Given the description of an element on the screen output the (x, y) to click on. 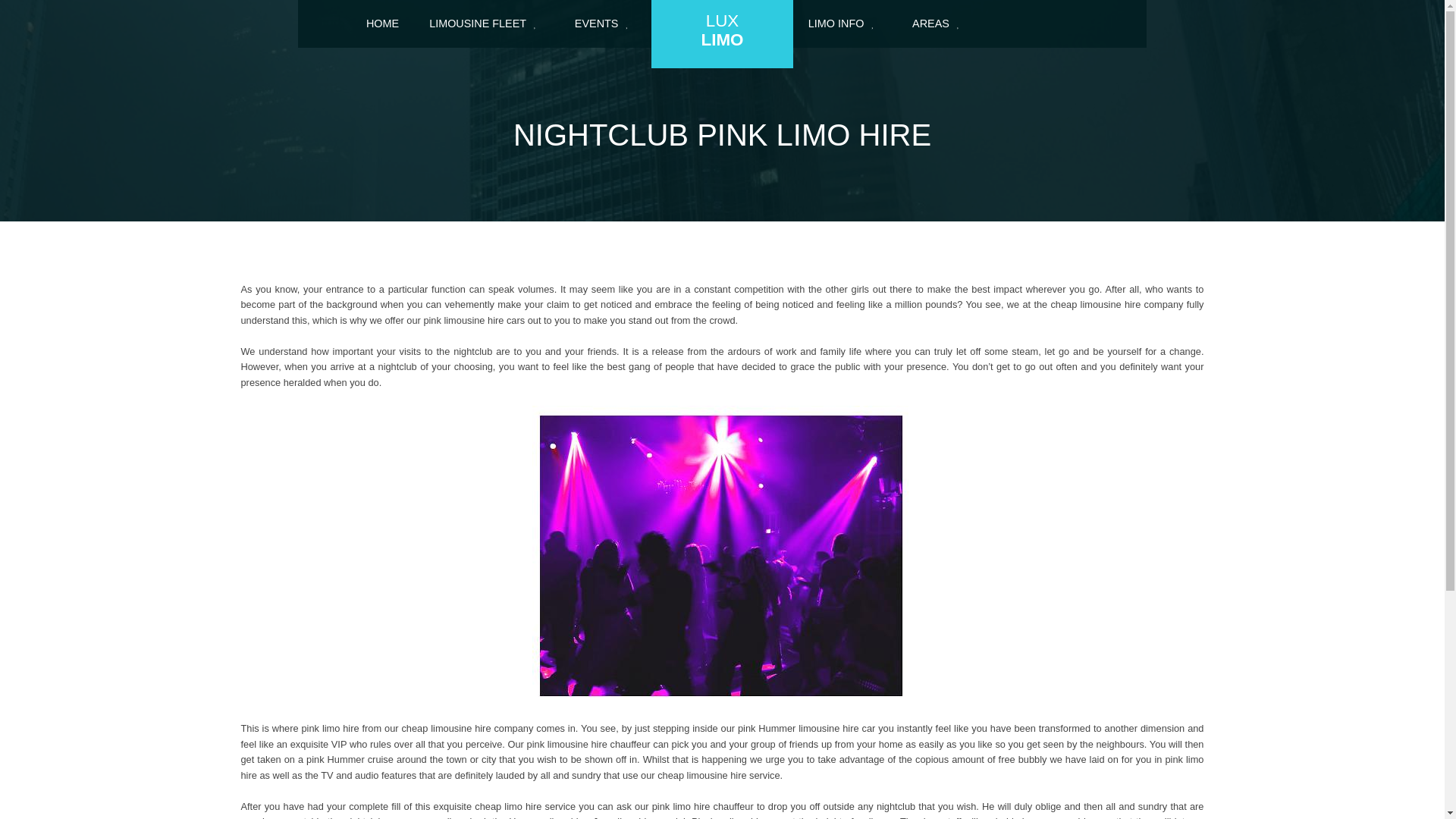
LIMOUSINE FLEET (486, 23)
LIMO INFO (721, 33)
AREAS (844, 23)
EVENTS (939, 23)
HOME (604, 23)
